Given the description of an element on the screen output the (x, y) to click on. 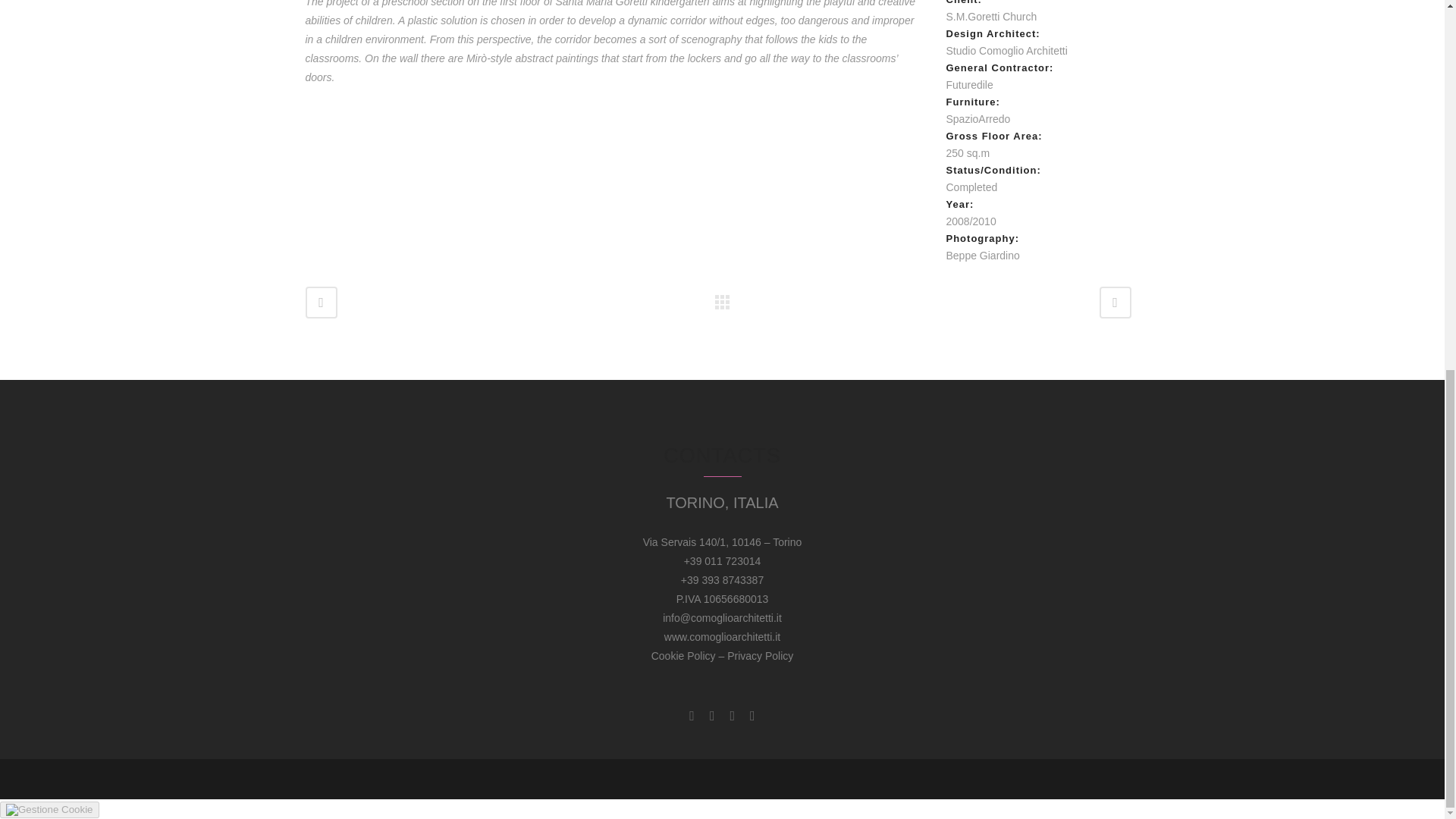
Cookie Policy (683, 655)
Privacy Policy (759, 655)
